Given the description of an element on the screen output the (x, y) to click on. 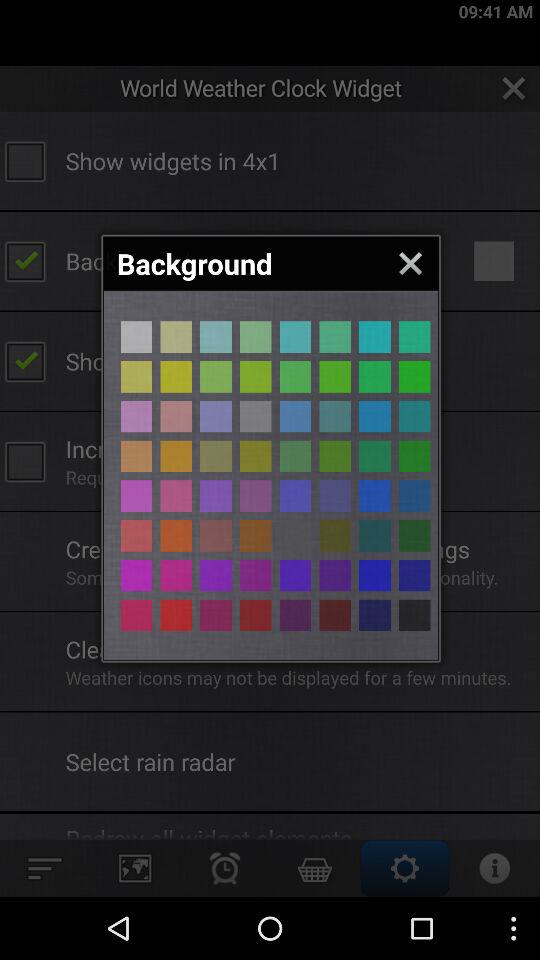
select color (374, 535)
